Given the description of an element on the screen output the (x, y) to click on. 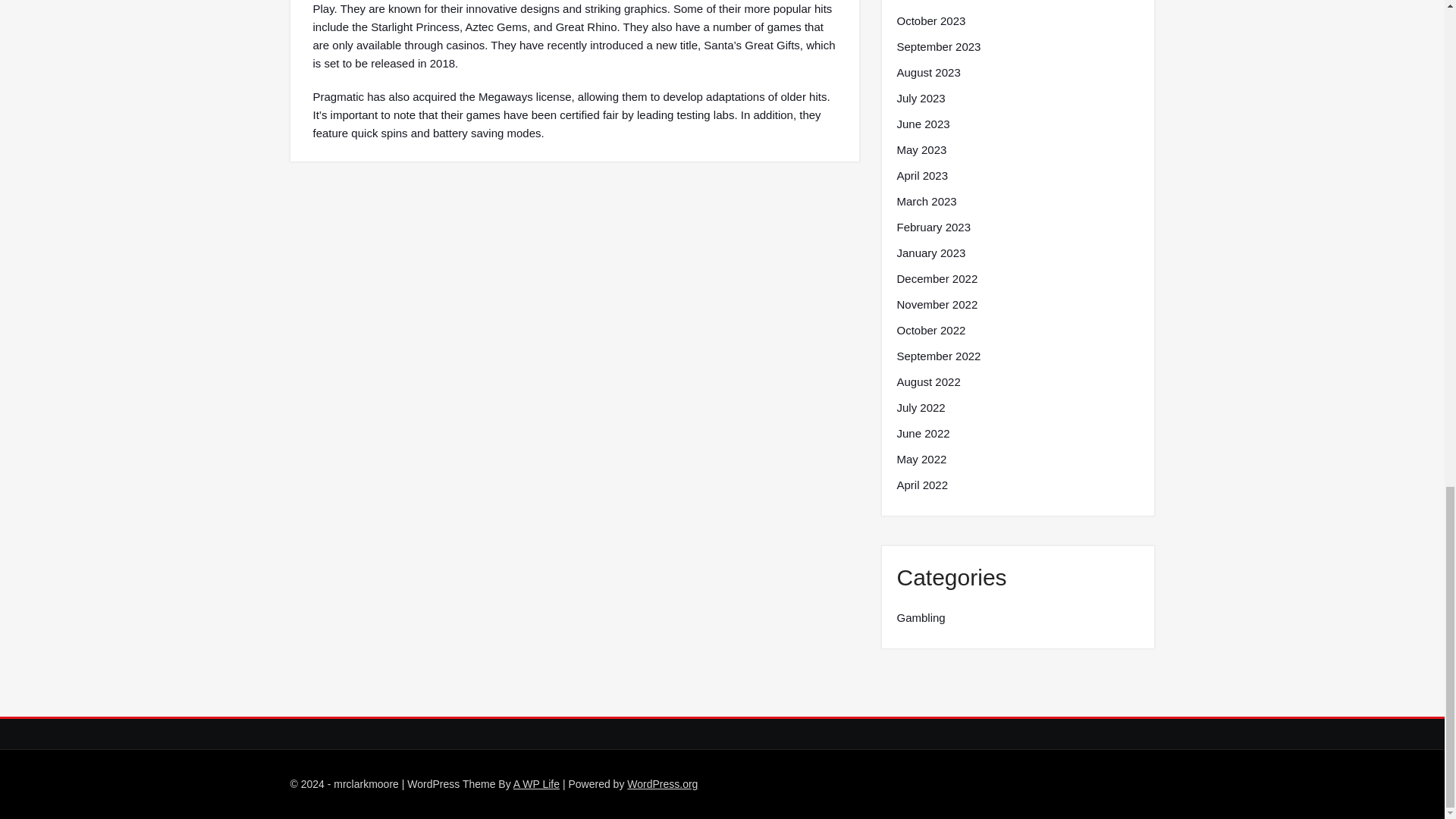
September 2023 (937, 46)
March 2023 (926, 201)
June 2023 (922, 124)
February 2023 (933, 227)
November 2023 (936, 2)
July 2023 (920, 98)
November 2022 (936, 304)
May 2023 (921, 149)
October 2022 (930, 330)
April 2023 (921, 176)
August 2023 (927, 72)
October 2023 (930, 21)
December 2022 (936, 279)
January 2023 (930, 253)
September 2022 (937, 356)
